Given the description of an element on the screen output the (x, y) to click on. 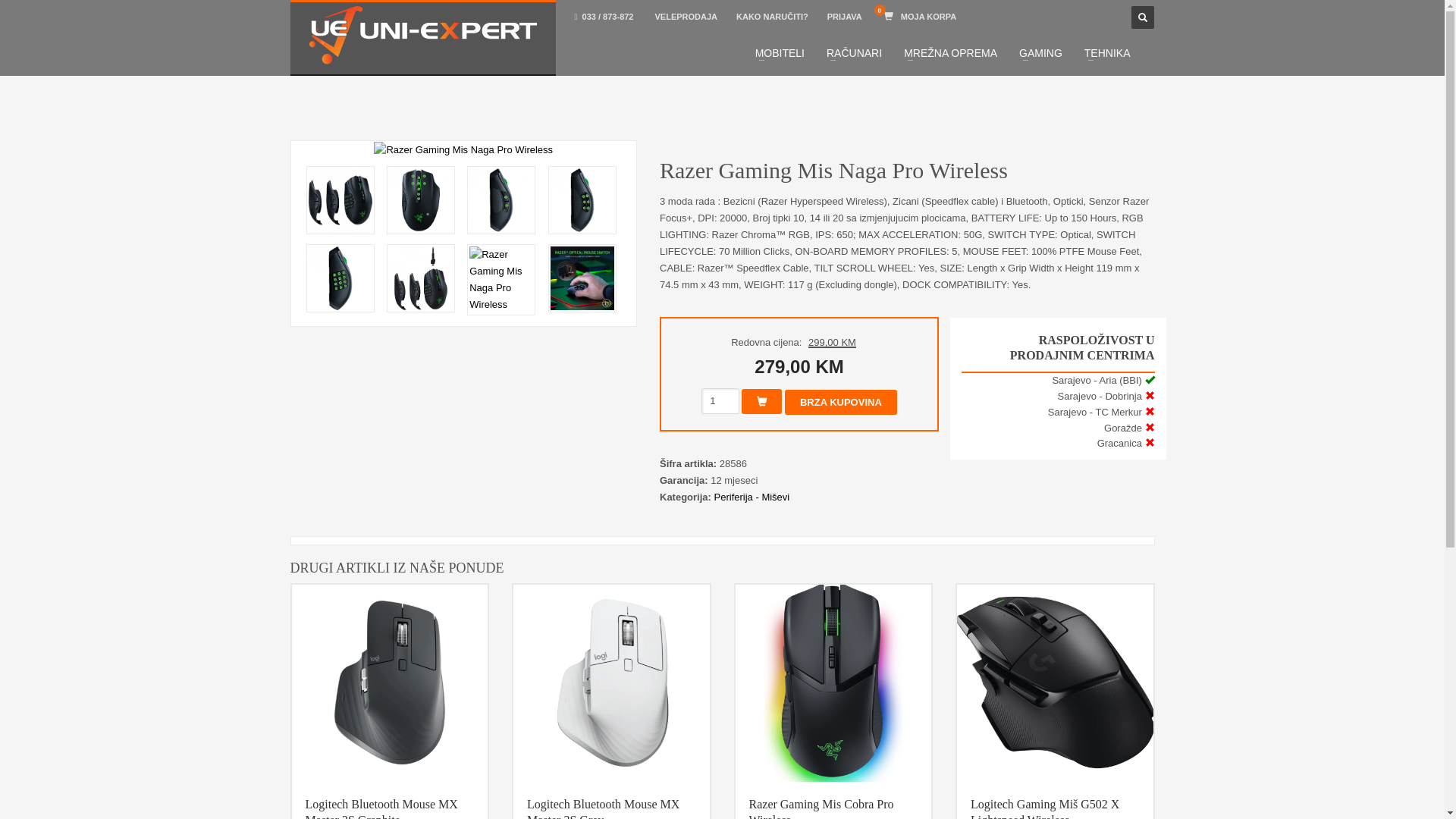
GAMING Element type: text (1040, 52)
Razer Gaming Mis Naga Pro Wireless Element type: hover (582, 278)
MOJA KORPA Element type: text (920, 16)
Razer Gaming Mis Naga Pro Wireless Element type: hover (464, 149)
PRIJAVA Element type: text (845, 16)
MOBITELI Element type: text (779, 52)
BRZA KUPOVINA Element type: text (840, 401)
Dodaj u korpu Element type: hover (761, 401)
Razer Gaming Mis Naga Pro Wireless Element type: hover (462, 149)
VELEPRODAJA Element type: text (685, 16)
Razer Gaming Mis Naga Pro Wireless Element type: hover (582, 200)
Logitech Bluetooth Mouse MX Master 3S Grey Element type: hover (611, 682)
PRIJAVA Element type: text (844, 16)
Razer Gaming Mis Naga Pro Wireless Element type: hover (420, 278)
Razer Gaming Mis Naga Pro Wireless Element type: hover (340, 278)
Razer Gaming Mis Cobra Pro Wireless Element type: hover (833, 682)
TEHNIKA Element type: text (1107, 52)
Razer Gaming Mis Naga Pro Wireless Element type: hover (340, 200)
Razer Gaming Mis Naga Pro Wireless Element type: hover (420, 200)
Razer Gaming Mis Naga Pro Wireless Element type: hover (501, 279)
Razer Gaming Mis Naga Pro Wireless Element type: hover (501, 200)
Logitech Bluetooth Mouse MX Master 3S Graphite Element type: hover (389, 682)
